Given the description of an element on the screen output the (x, y) to click on. 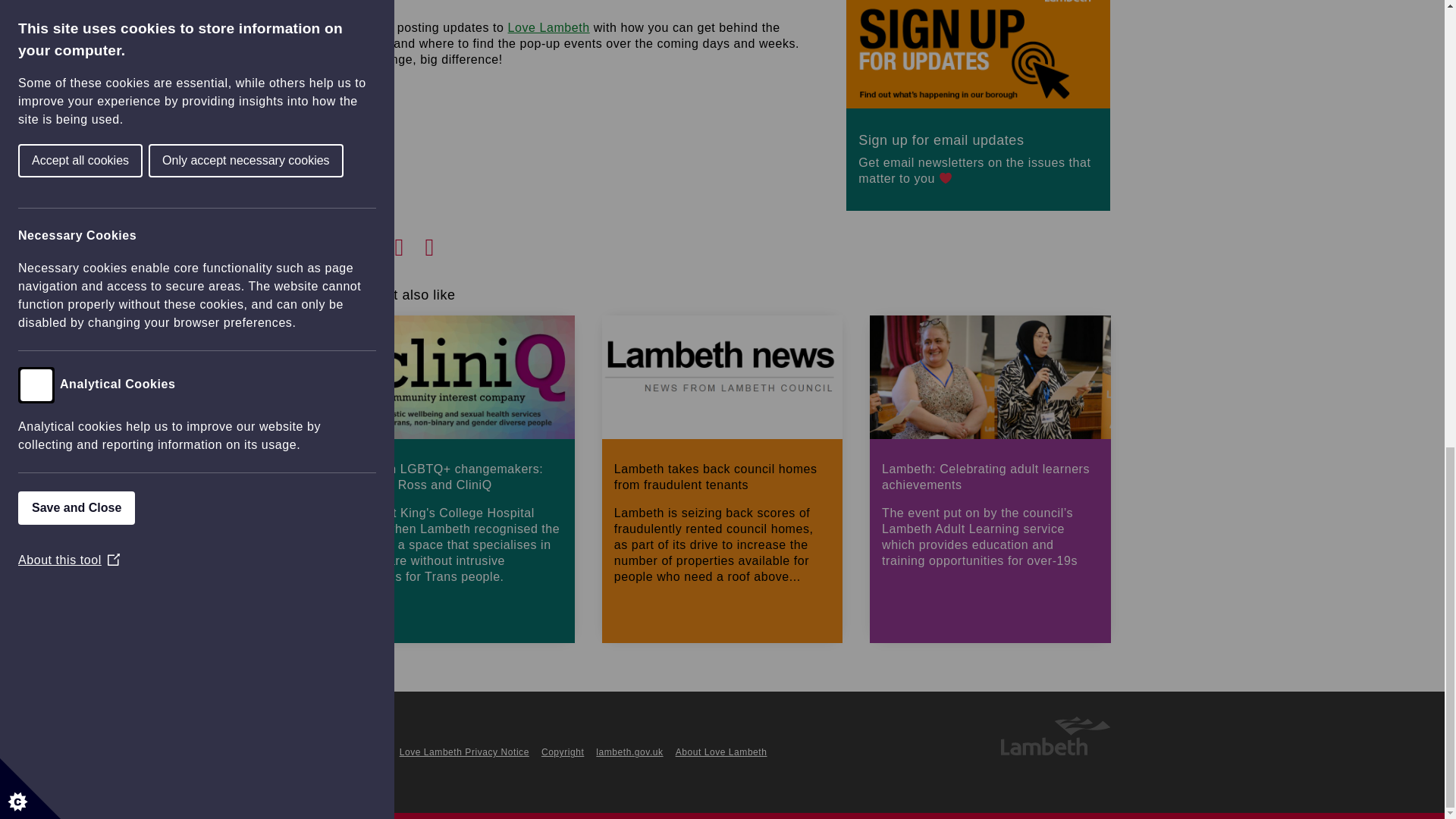
lambeth.gov.uk (628, 751)
share this on Facebook (348, 242)
House rules (360, 751)
Love Lambeth (548, 27)
share this on google plus (409, 242)
Copyright (562, 751)
Love Lambeth Privacy Notice (463, 751)
share this on twitter (379, 242)
Lambeth takes back council homes from fraudulent tenants (722, 508)
lambeth council's website (1053, 751)
Lambeth: Celebrating adult learners achievements (989, 508)
